Given the description of an element on the screen output the (x, y) to click on. 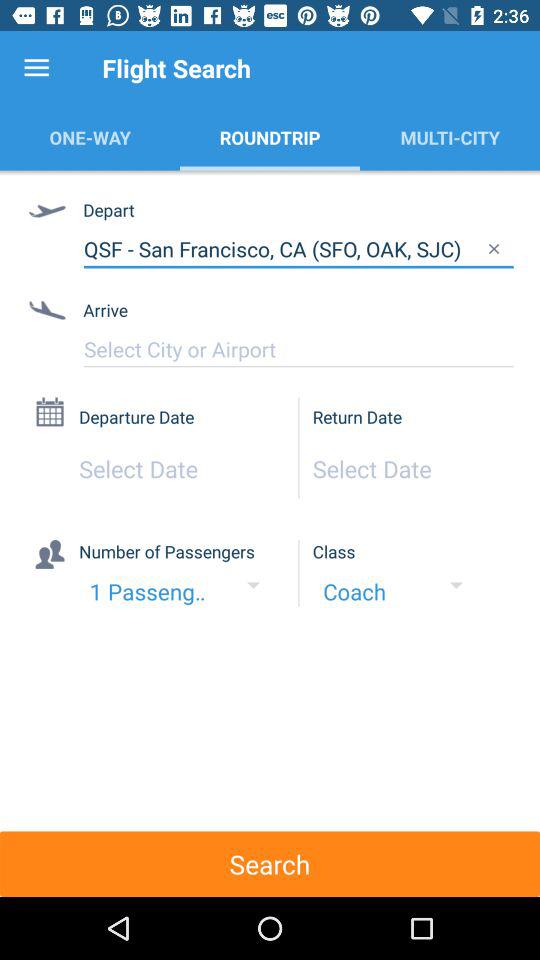
click item to the left of the flight search (36, 68)
